Given the description of an element on the screen output the (x, y) to click on. 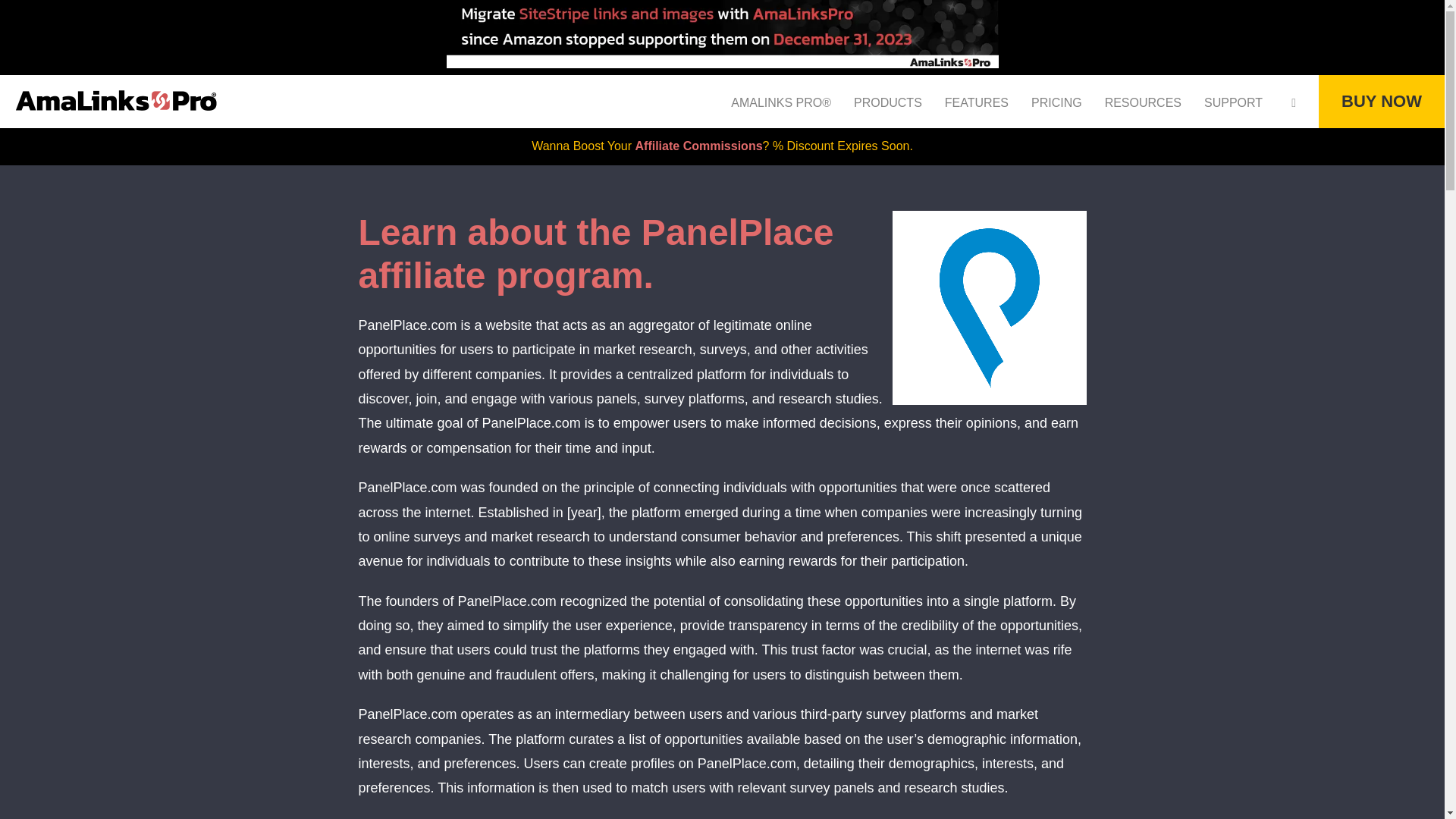
FEATURES (976, 102)
PRODUCTS (887, 102)
PRICING (1055, 102)
RESOURCES (1142, 102)
SUPPORT (1233, 102)
